Given the description of an element on the screen output the (x, y) to click on. 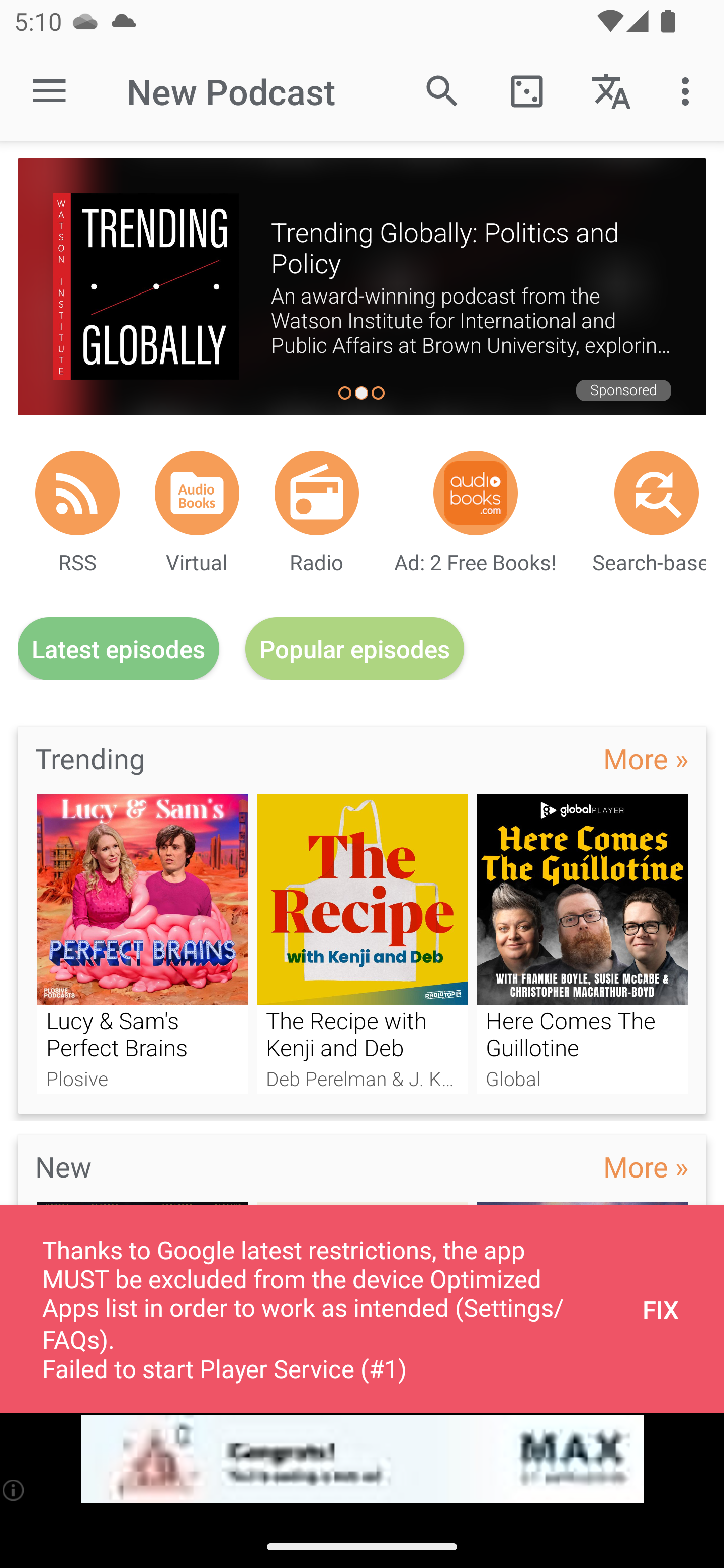
Open navigation sidebar (49, 91)
Search (442, 90)
Random pick (526, 90)
Podcast languages (611, 90)
More options (688, 90)
RSS (77, 492)
Virtual (196, 492)
Radio (316, 492)
Search-based (656, 492)
Latest episodes (118, 648)
Popular episodes (354, 648)
More » (645, 757)
Lucy & Sam's Perfect Brains Plosive (142, 942)
Here Comes The Guillotine Global (581, 942)
More » (645, 1166)
FIX (660, 1308)
app-monetization (362, 1459)
(i) (14, 1489)
